Given the description of an element on the screen output the (x, y) to click on. 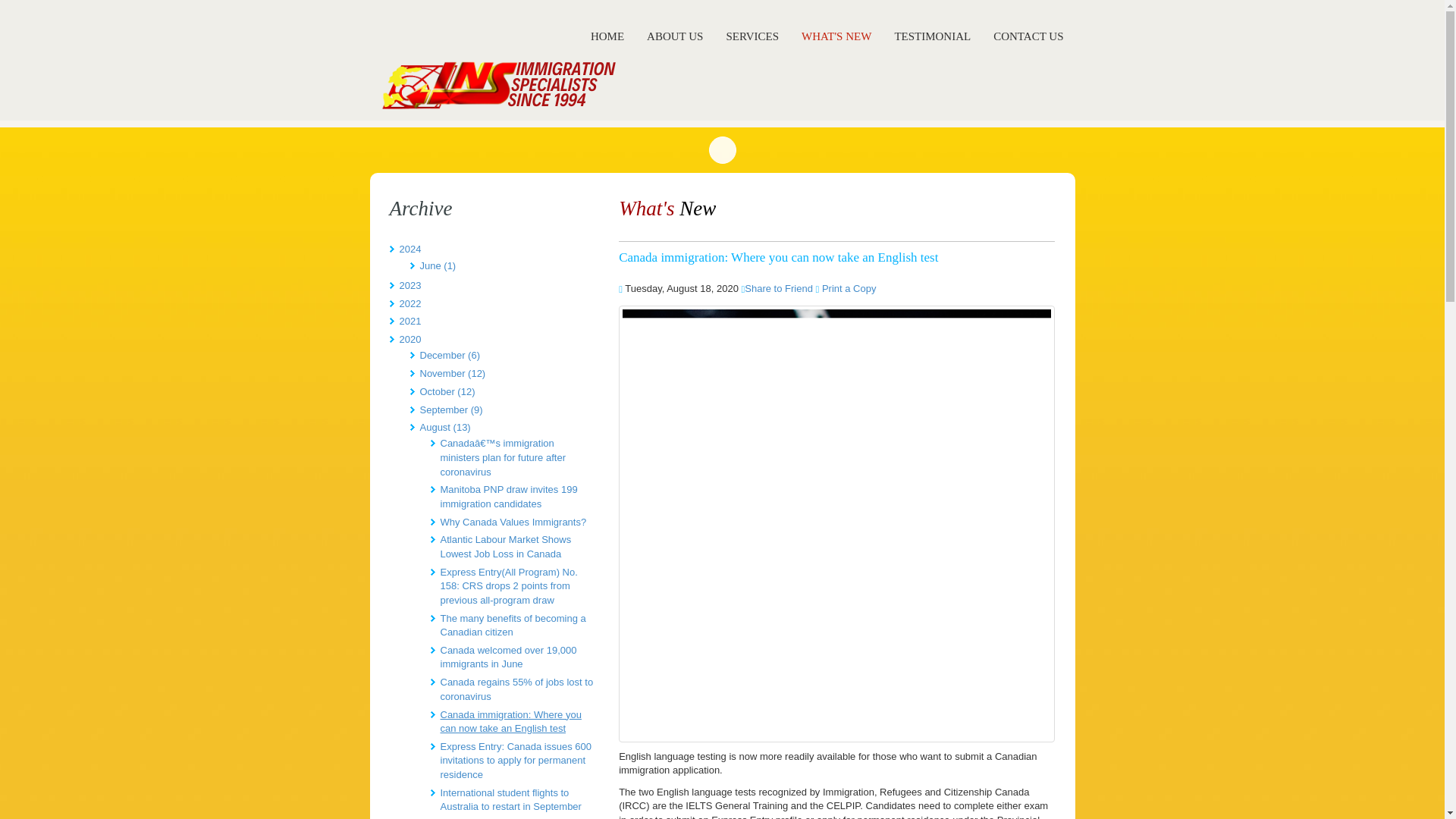
WHAT'S NEW (836, 36)
CONTACT US (1027, 36)
HOME (606, 36)
2024 (409, 248)
SERVICES (752, 36)
TESTIMONIAL (931, 36)
ABOUT US (674, 36)
2023 (409, 285)
